Given the description of an element on the screen output the (x, y) to click on. 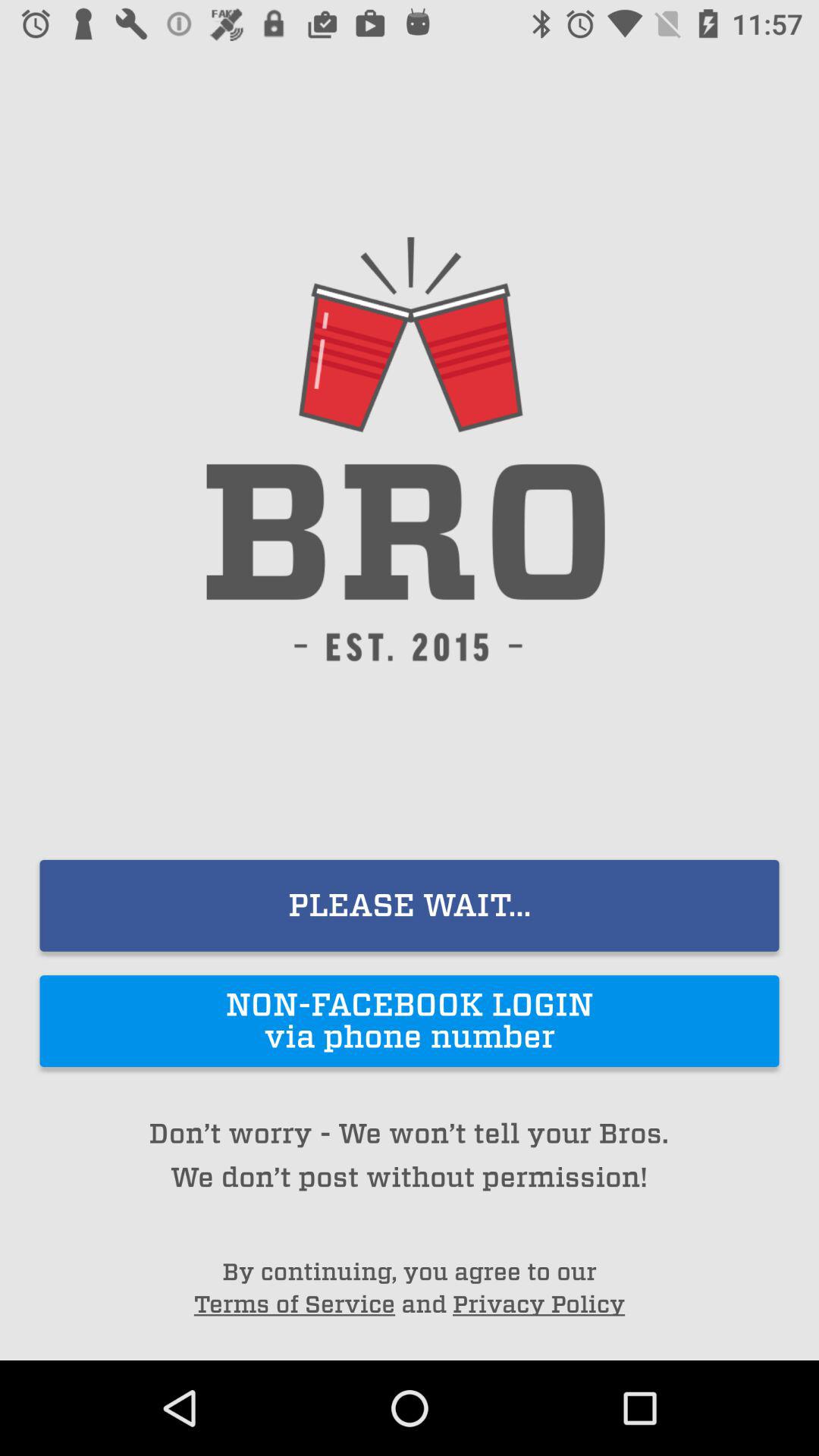
tap the icon next to the  and (294, 1304)
